Given the description of an element on the screen output the (x, y) to click on. 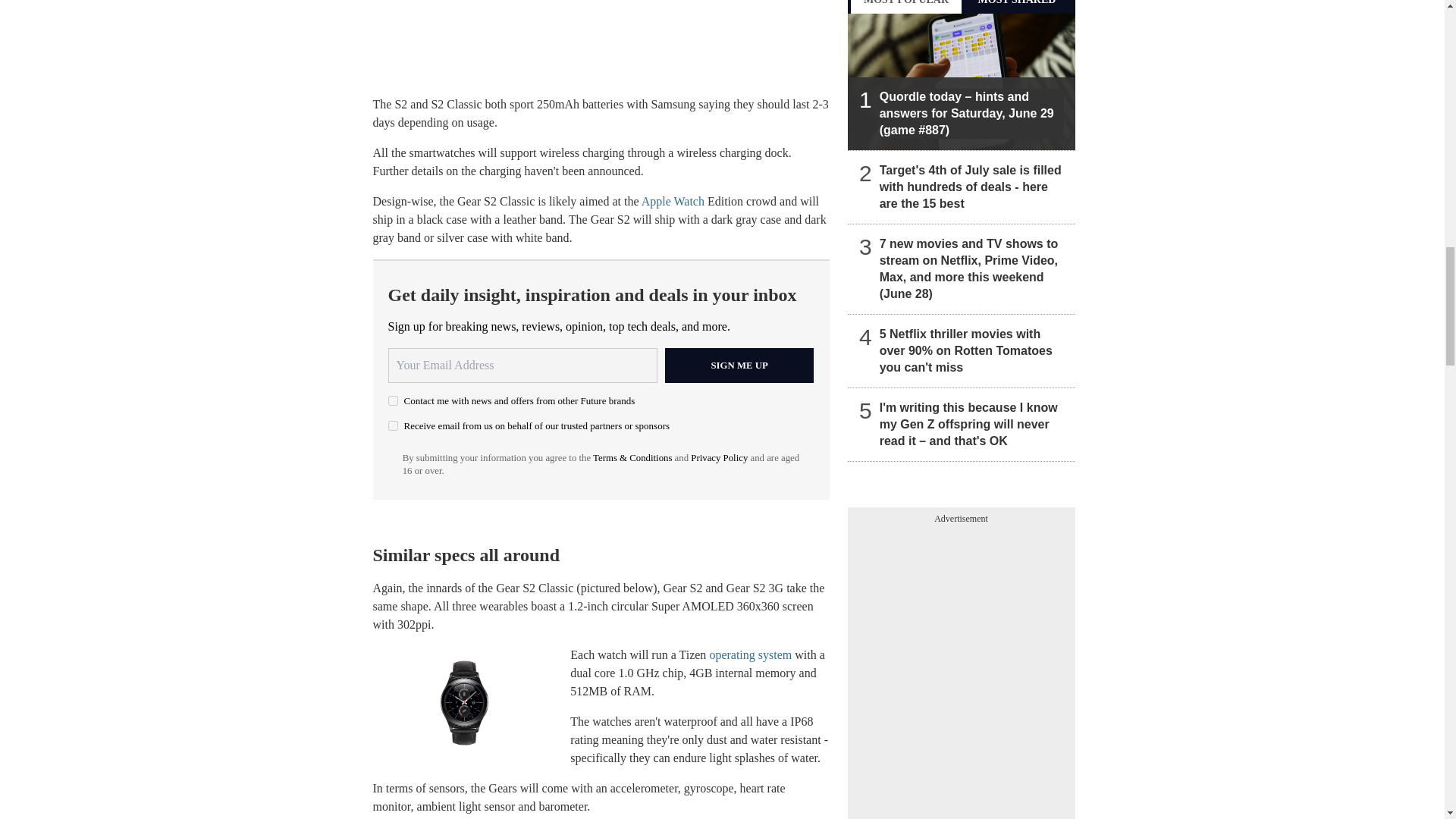
Sign me up (739, 365)
on (392, 400)
on (392, 425)
